Given the description of an element on the screen output the (x, y) to click on. 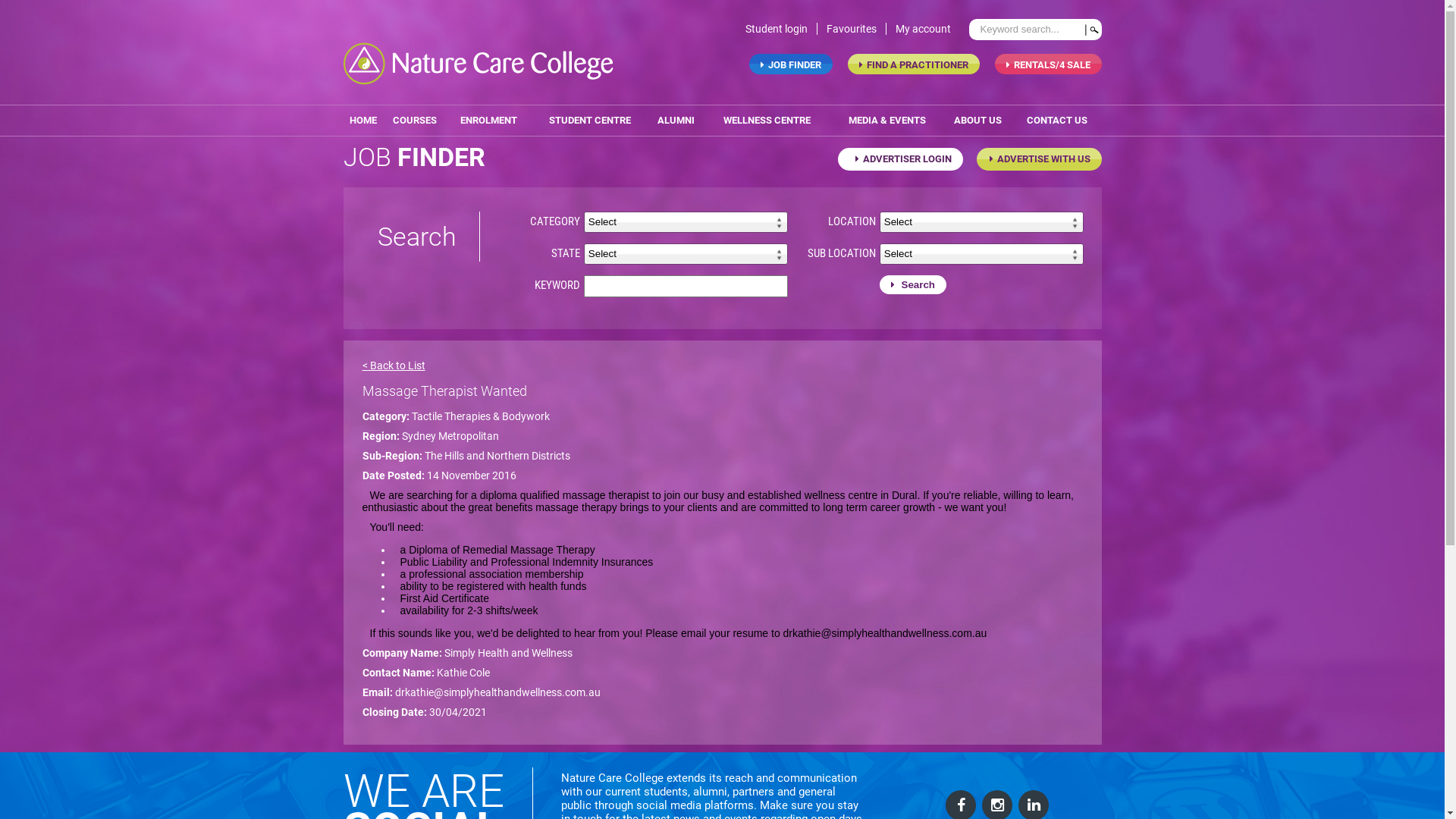
ALUMNI Element type: text (675, 120)
Search Element type: text (912, 284)
  Element type: text (1091, 29)
JOB FINDER Element type: text (790, 63)
My account Element type: text (926, 28)
WELLNESS CENTRE Element type: text (767, 120)
Favourites Element type: text (856, 28)
FIND A PRACTITIONER Element type: text (913, 63)
< Back to List Element type: text (393, 365)
ADVERTISER LOGIN Element type: text (899, 158)
ENROLMENT Element type: text (488, 120)
RENTALS/4 SALE Element type: text (1047, 63)
ABOUT US Element type: text (978, 120)
STUDENT CENTRE Element type: text (589, 120)
ADVERTISE WITH US Element type: text (1038, 158)
HOME Element type: text (362, 120)
Student login Element type: text (780, 28)
MEDIA & EVENTS Element type: text (886, 120)
COURSES Element type: text (414, 120)
CONTACT US Element type: text (1057, 120)
